Given the description of an element on the screen output the (x, y) to click on. 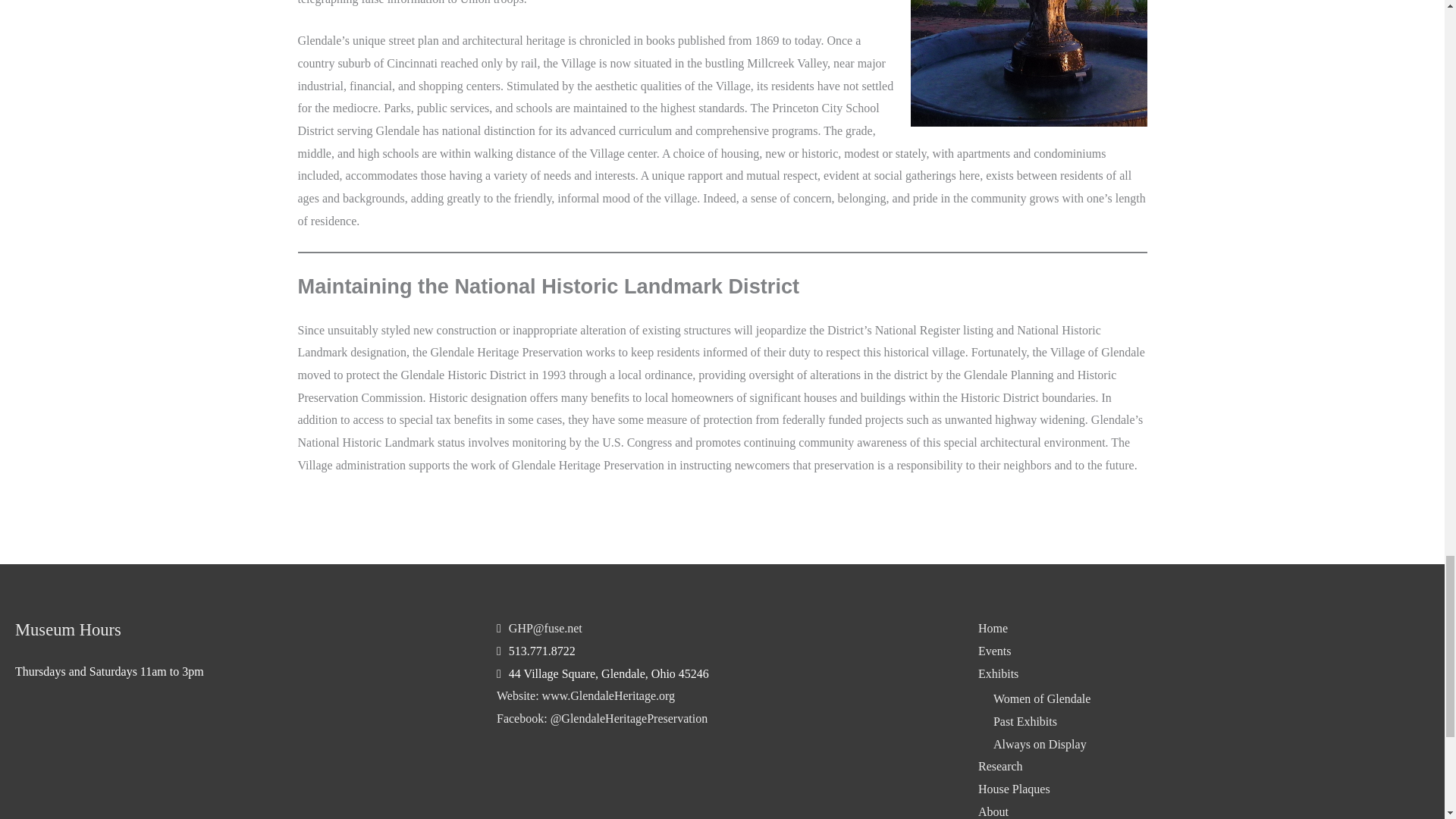
Home (992, 627)
Website: www.GlendaleHeritage.org (585, 695)
